Given the description of an element on the screen output the (x, y) to click on. 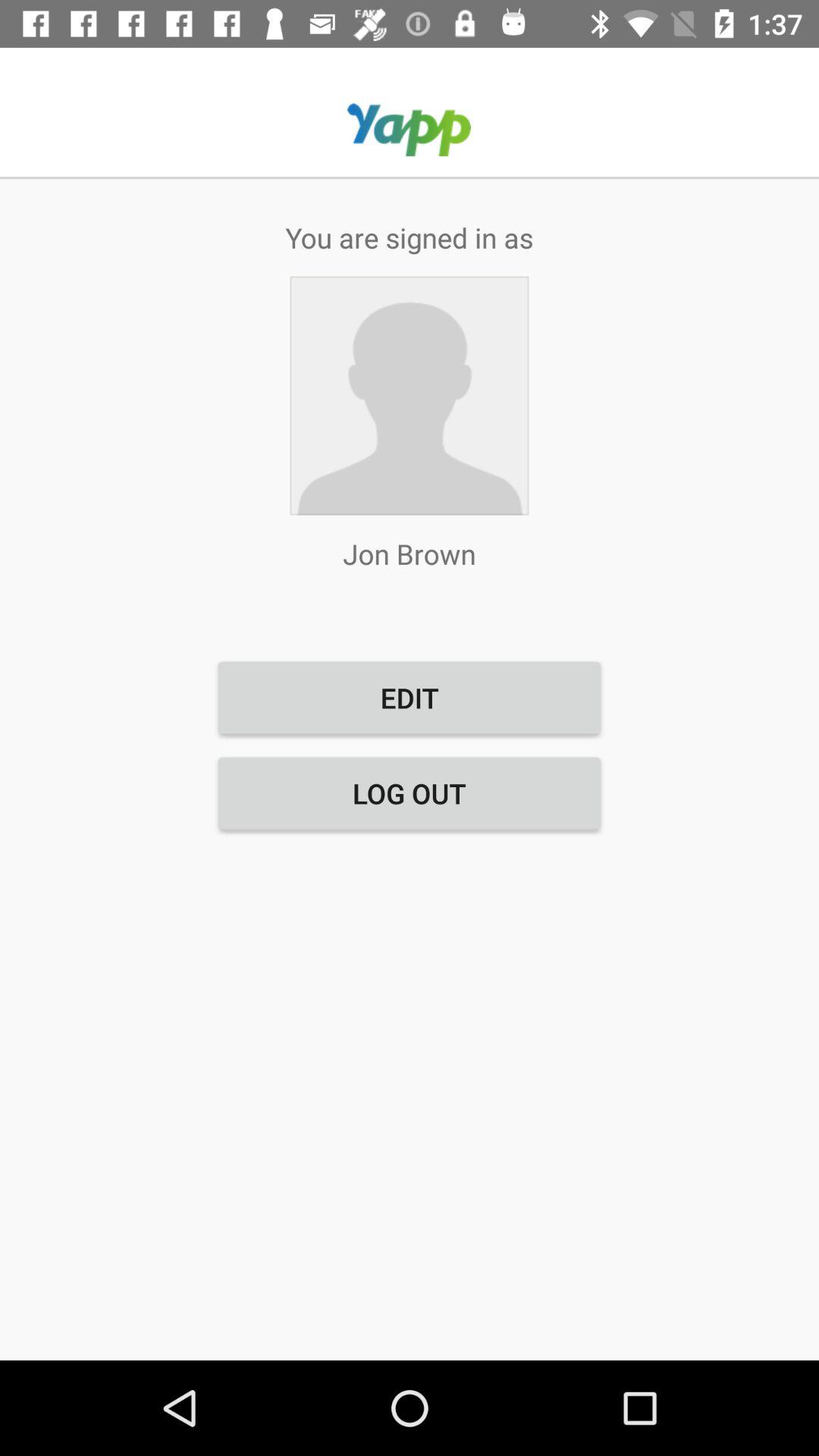
swipe to log out (409, 793)
